Given the description of an element on the screen output the (x, y) to click on. 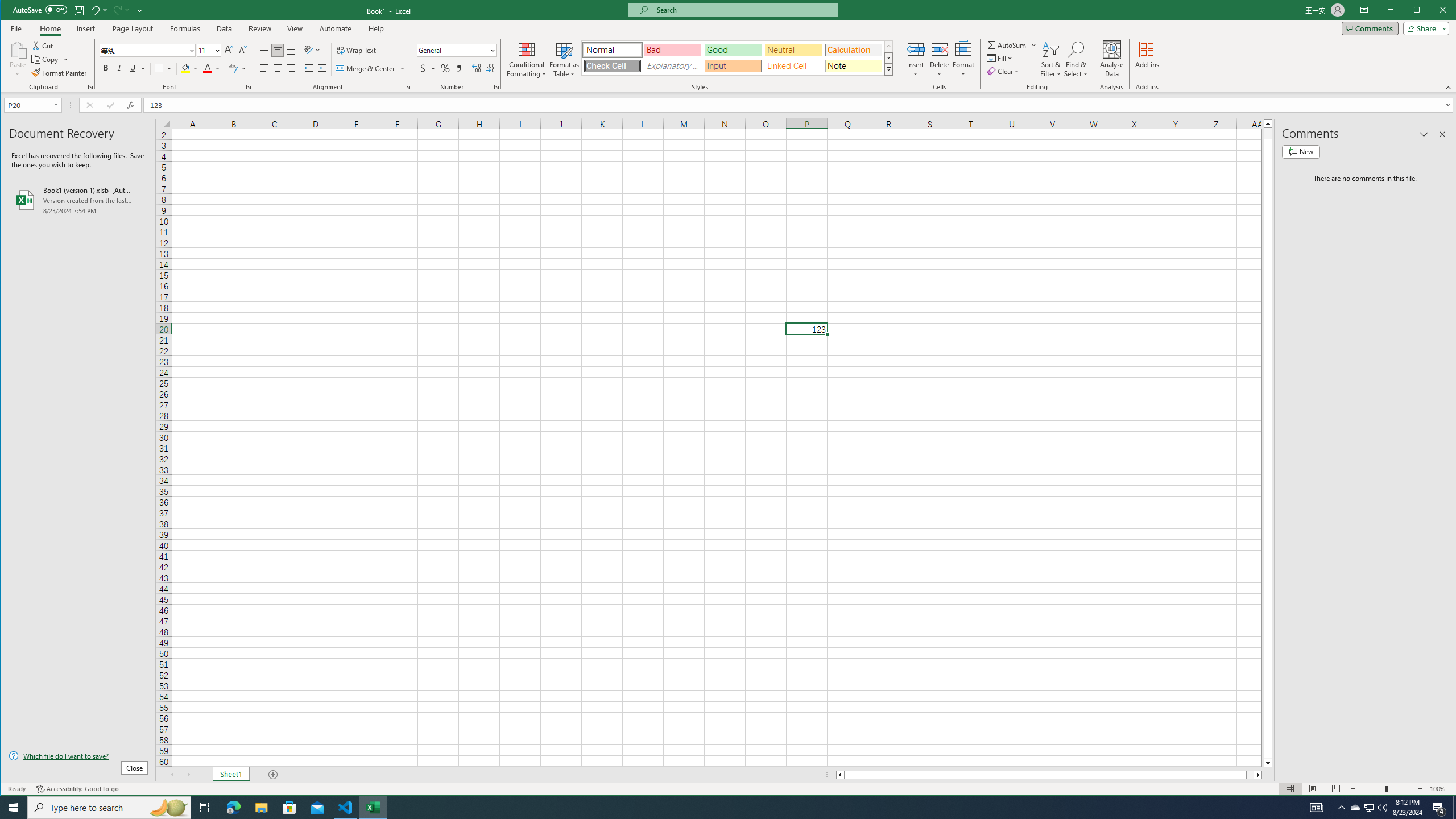
Input (732, 65)
Format Cell Alignment (407, 86)
Sum (1007, 44)
Note (853, 65)
Copy (1368, 807)
Bold (50, 59)
Q2790: 100% (105, 68)
Neutral (1382, 807)
Merge & Center (793, 49)
